Given the description of an element on the screen output the (x, y) to click on. 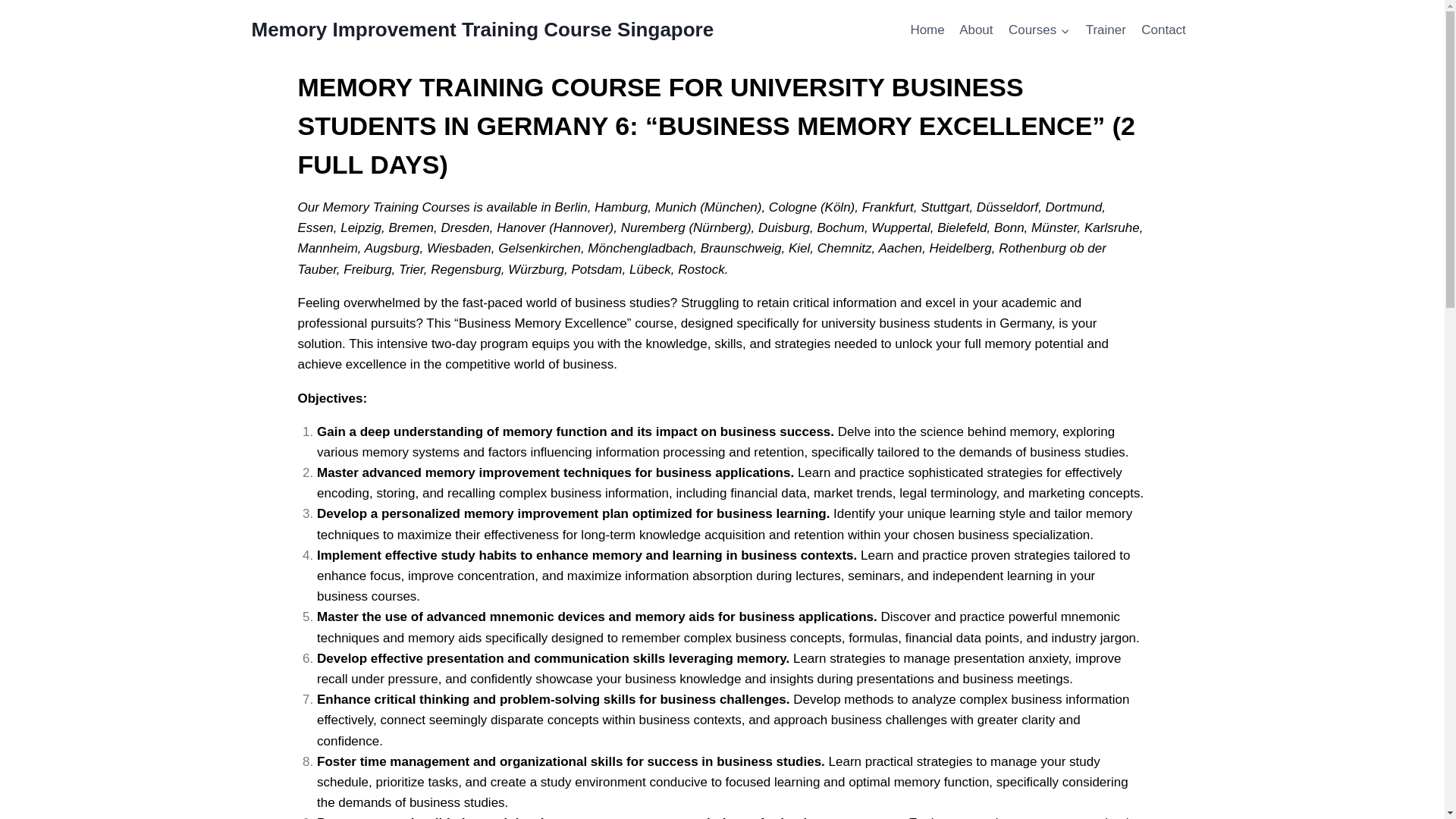
Contact (1163, 30)
Courses (1039, 30)
Memory Improvement Training Course Singapore (482, 29)
About (976, 30)
Trainer (1105, 30)
Home (927, 30)
